Given the description of an element on the screen output the (x, y) to click on. 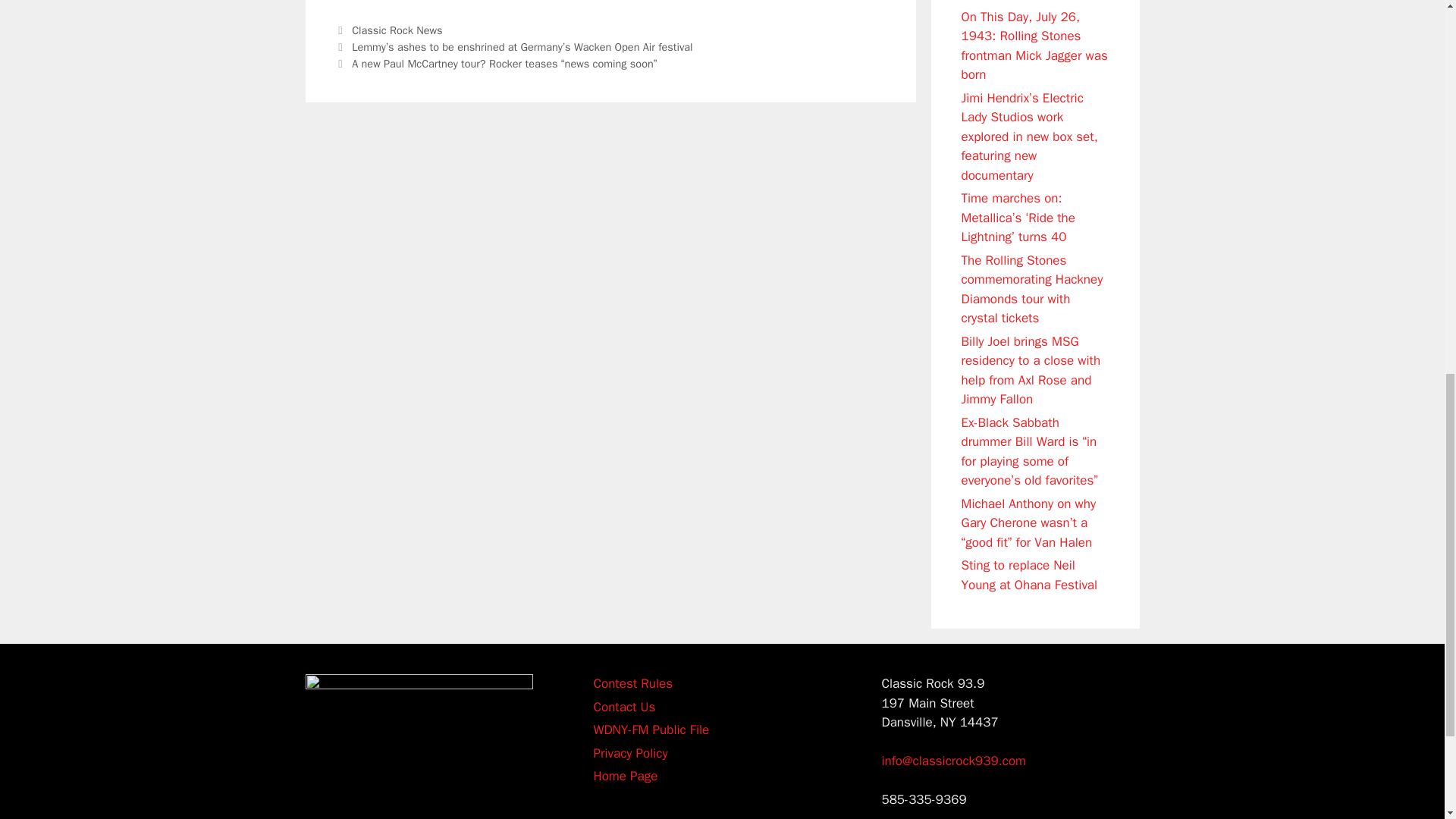
Sting to replace Neil Young at Ohana Festival (1028, 574)
Classic Rock News (397, 29)
Privacy Policy (629, 752)
Bruce Springsteen aids in proposal at Wembley Stadium show (1033, 0)
Contact Us (623, 706)
WDNY-FM Public File (650, 729)
Contest Rules (632, 683)
